Given the description of an element on the screen output the (x, y) to click on. 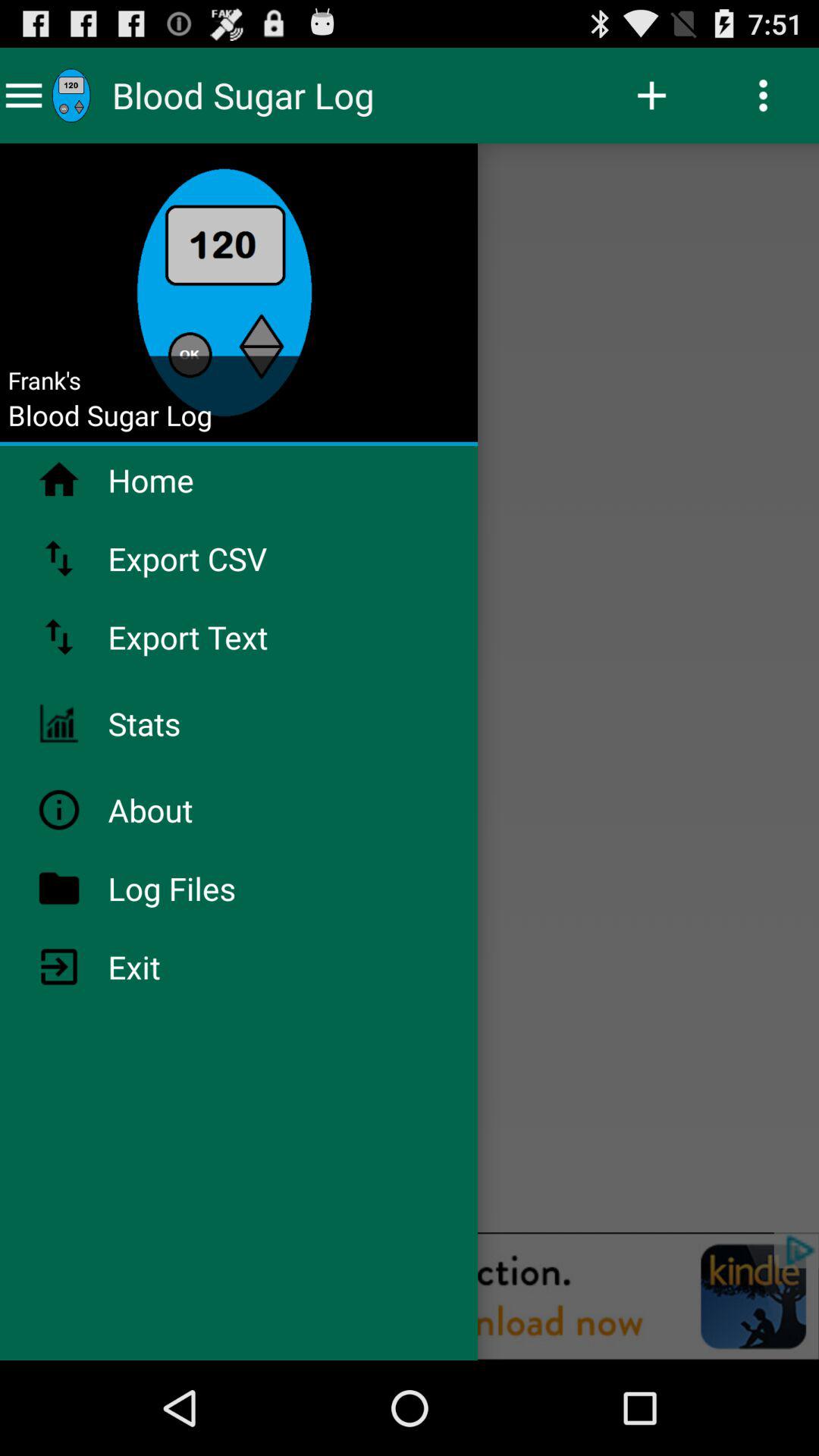
tap export text (227, 636)
